Given the description of an element on the screen output the (x, y) to click on. 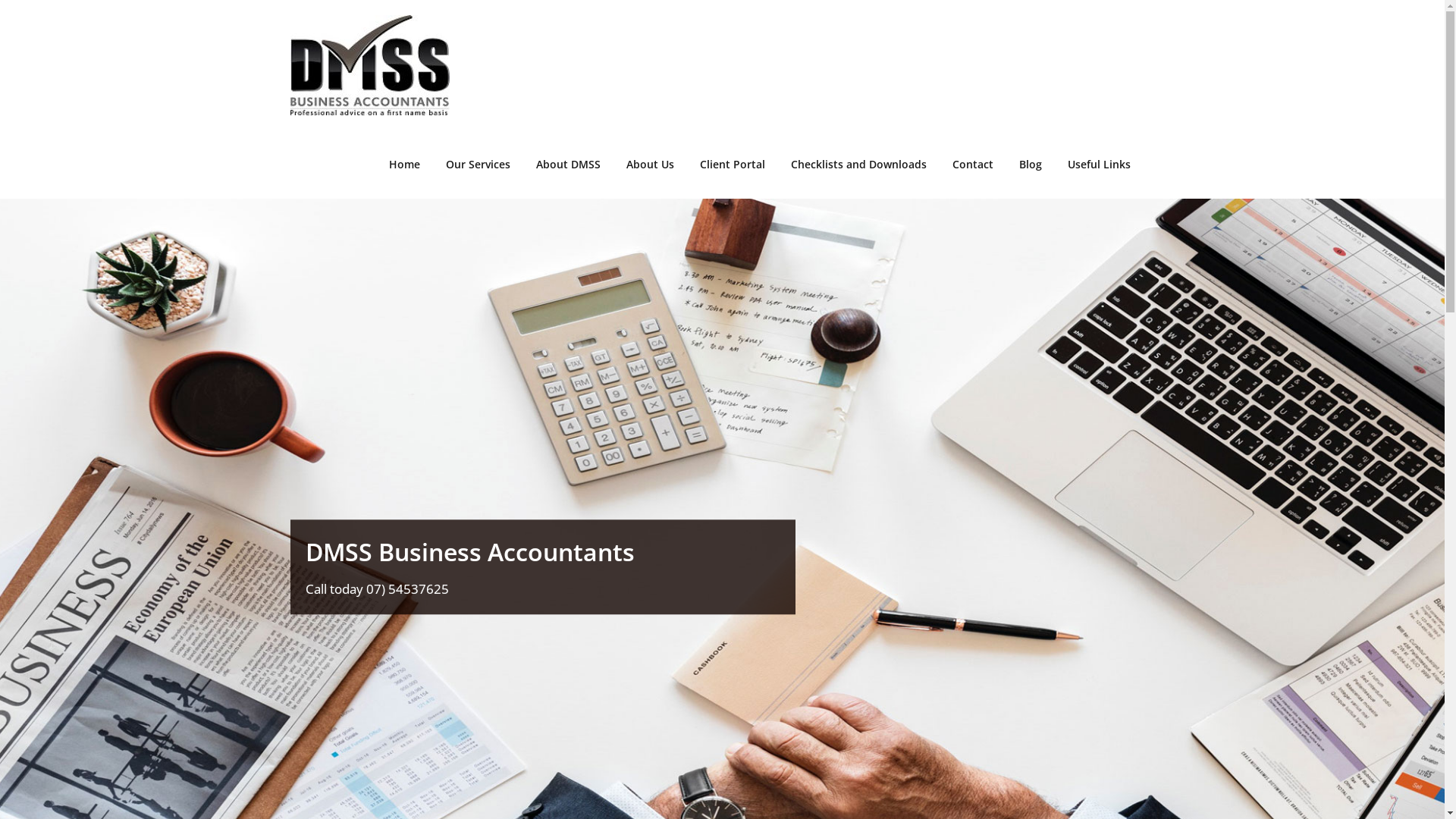
Contact Element type: text (971, 164)
About DMSS Element type: text (568, 164)
Home Element type: text (404, 164)
Checklists and Downloads Element type: text (858, 164)
Client Portal Element type: text (732, 164)
About Us Element type: text (649, 164)
Our Services Element type: text (477, 164)
Blog Element type: text (1029, 164)
Useful Links Element type: text (1098, 164)
